Given the description of an element on the screen output the (x, y) to click on. 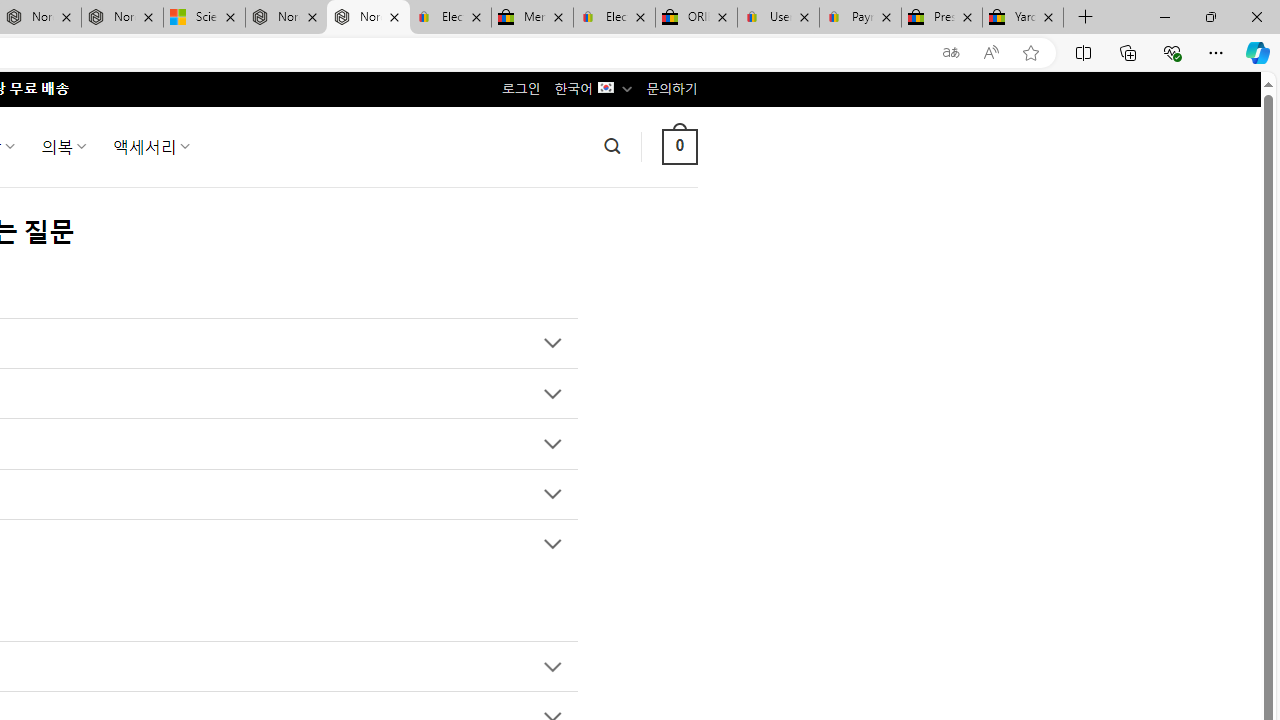
Nordace - FAQ (368, 17)
 0  (679, 146)
